Given the description of an element on the screen output the (x, y) to click on. 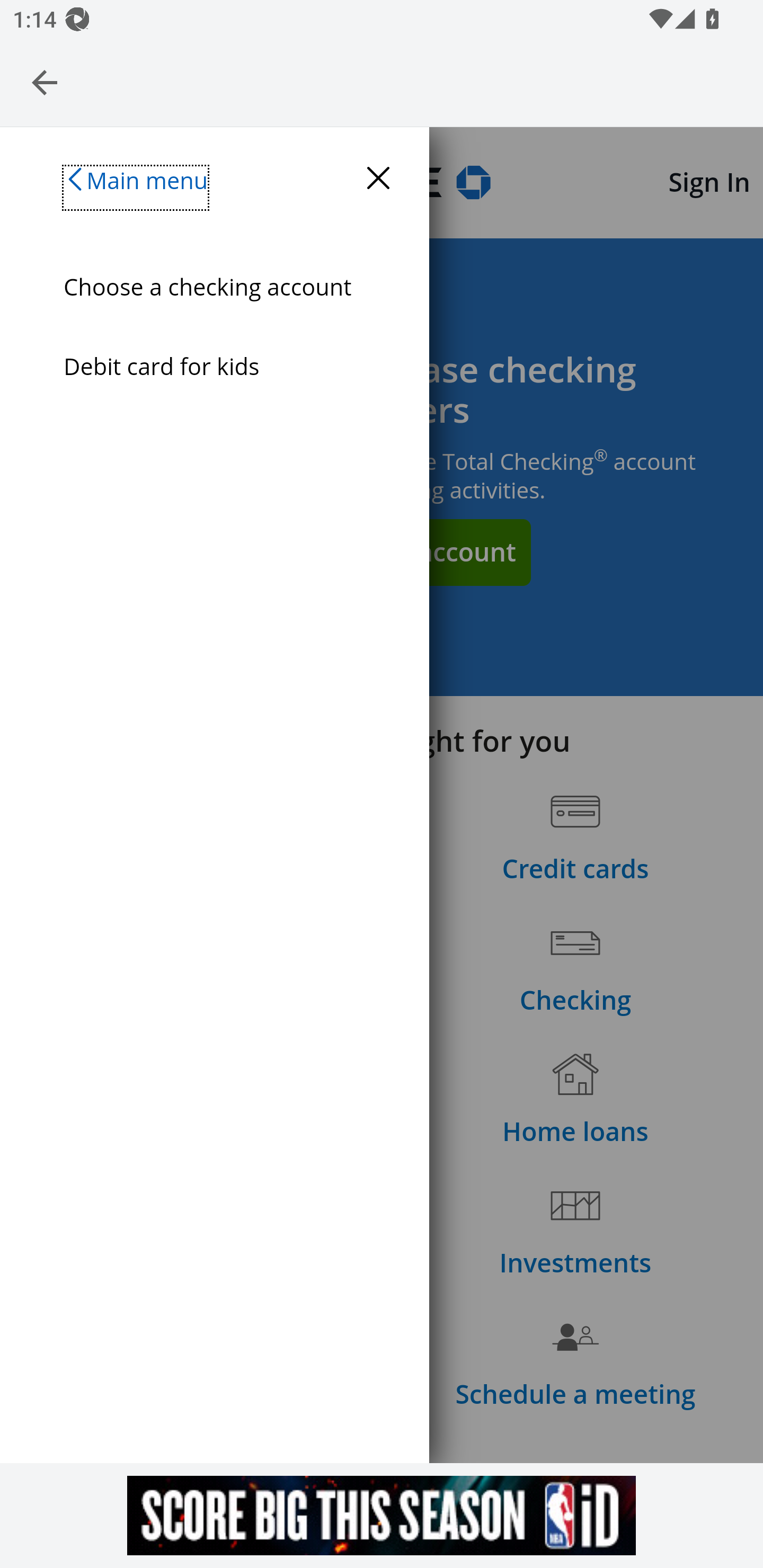
Navigate up (44, 82)
Main menu (135, 187)
Close Side Menu (377, 179)
Choose a checking account (226, 286)
Debit card for kids (226, 366)
